Given the description of an element on the screen output the (x, y) to click on. 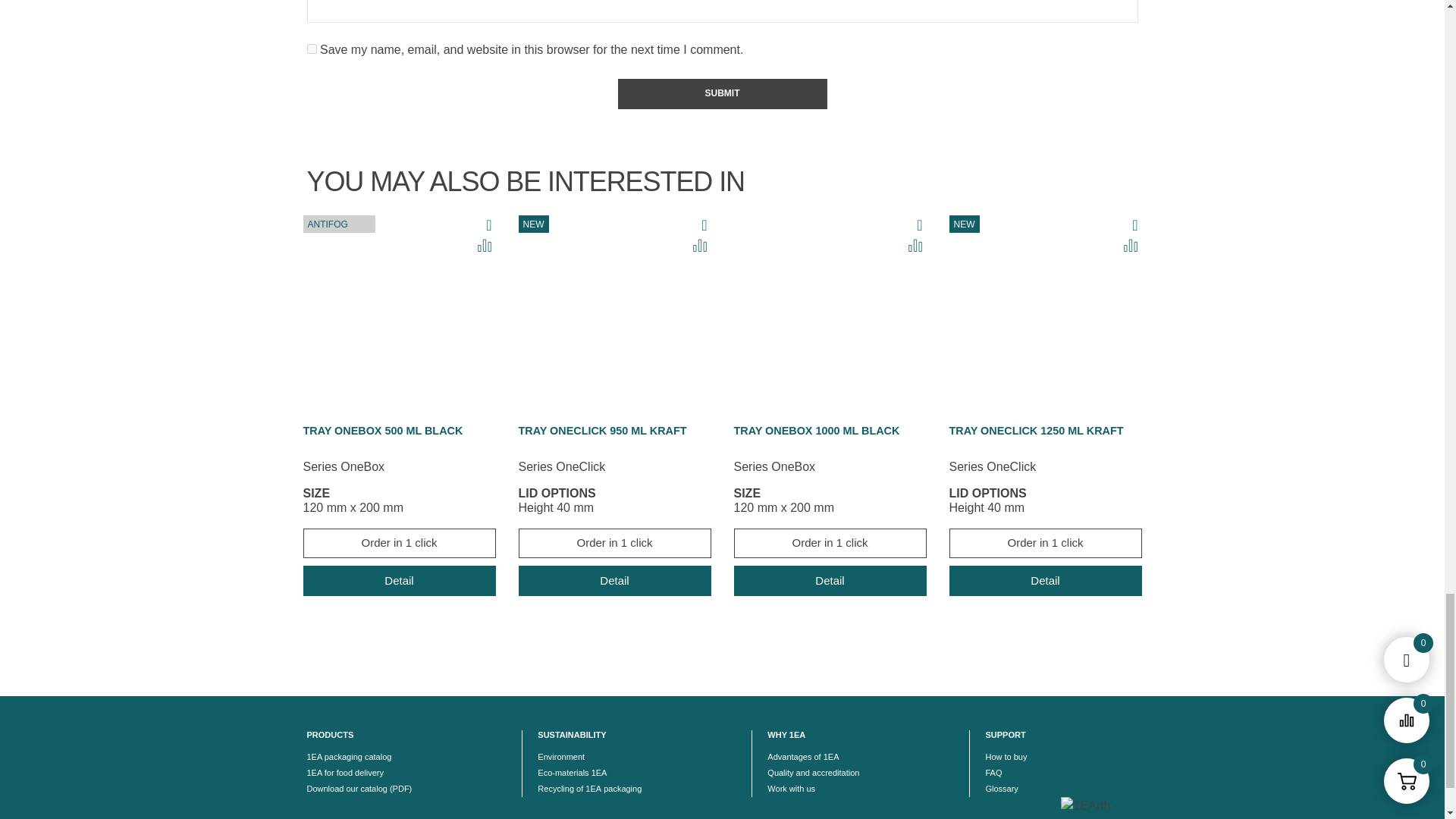
Submit (721, 93)
yes (310, 49)
